Given the description of an element on the screen output the (x, y) to click on. 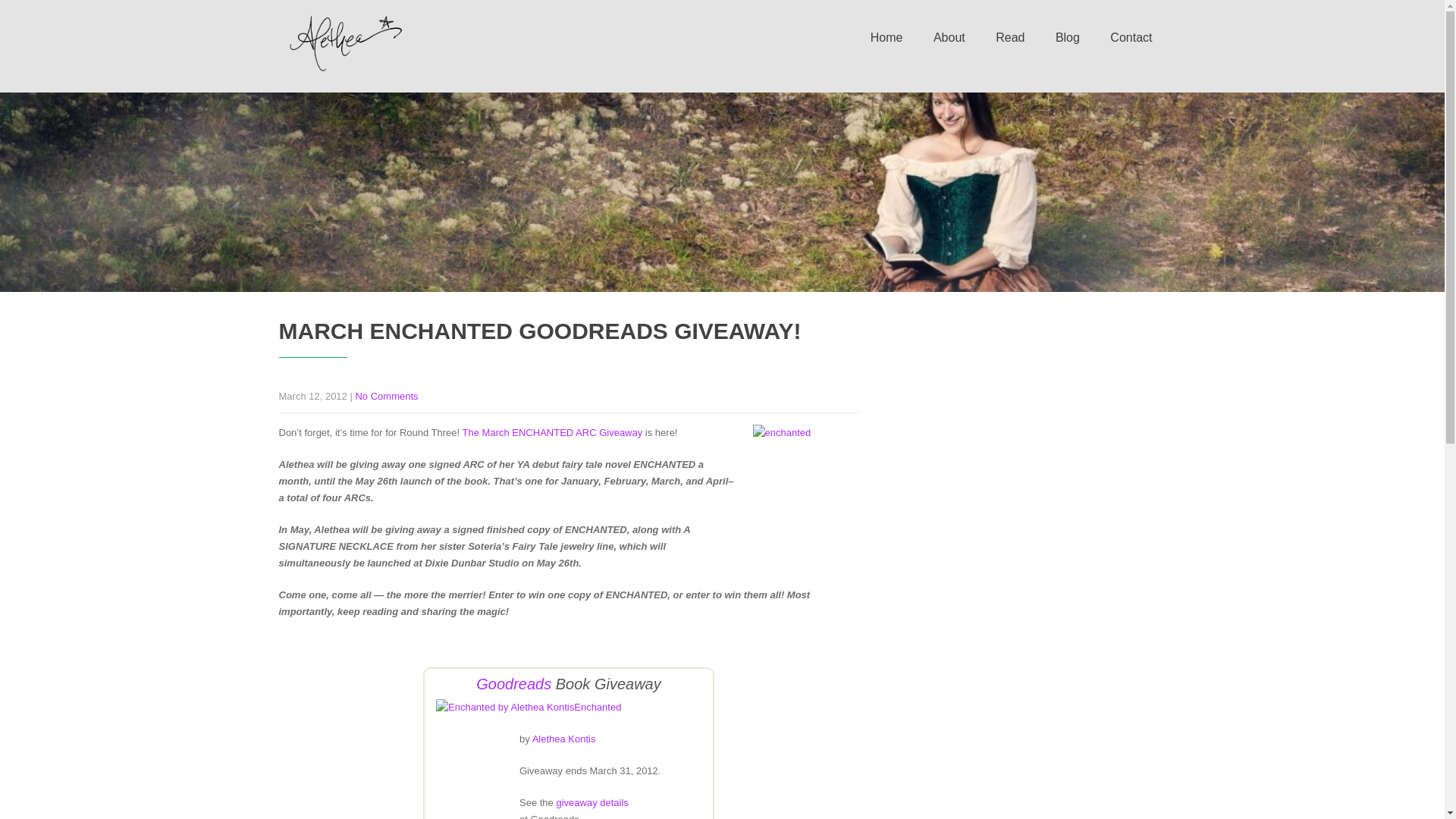
Enchanted by Alethea Kontis (504, 707)
Alethea Kontis (563, 738)
Contact (1131, 38)
No Comments (386, 396)
The March ENCHANTED ARC Giveaway (553, 432)
giveaway details (591, 802)
Enchanted (597, 706)
Goodreads (513, 683)
